Given the description of an element on the screen output the (x, y) to click on. 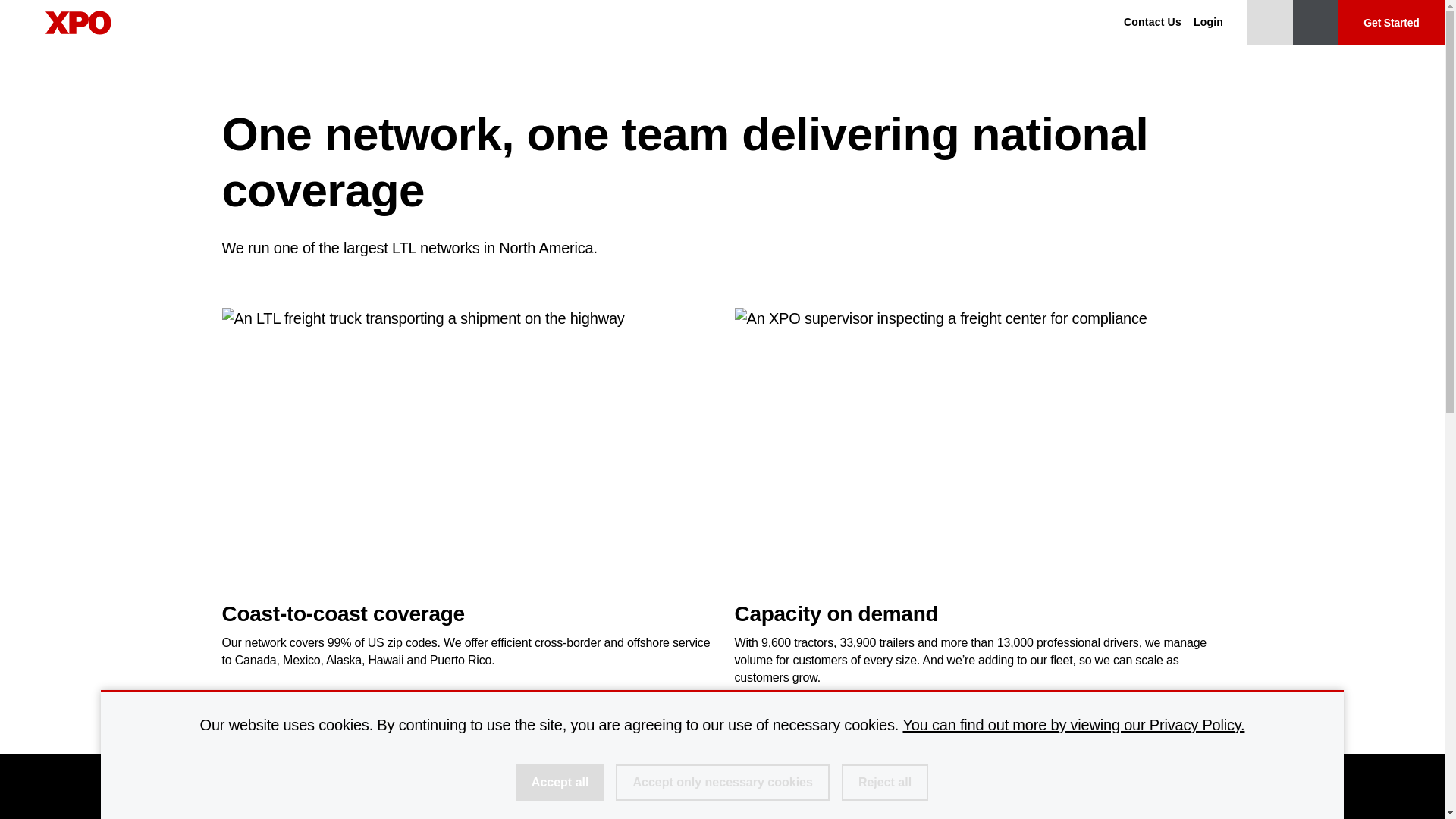
XPO (78, 22)
Accept only necessary cookies (721, 782)
Accept all (560, 782)
Contact Us (1152, 22)
Reject all (884, 782)
You can find out more by viewing our Privacy Policy. (1073, 724)
